Given the description of an element on the screen output the (x, y) to click on. 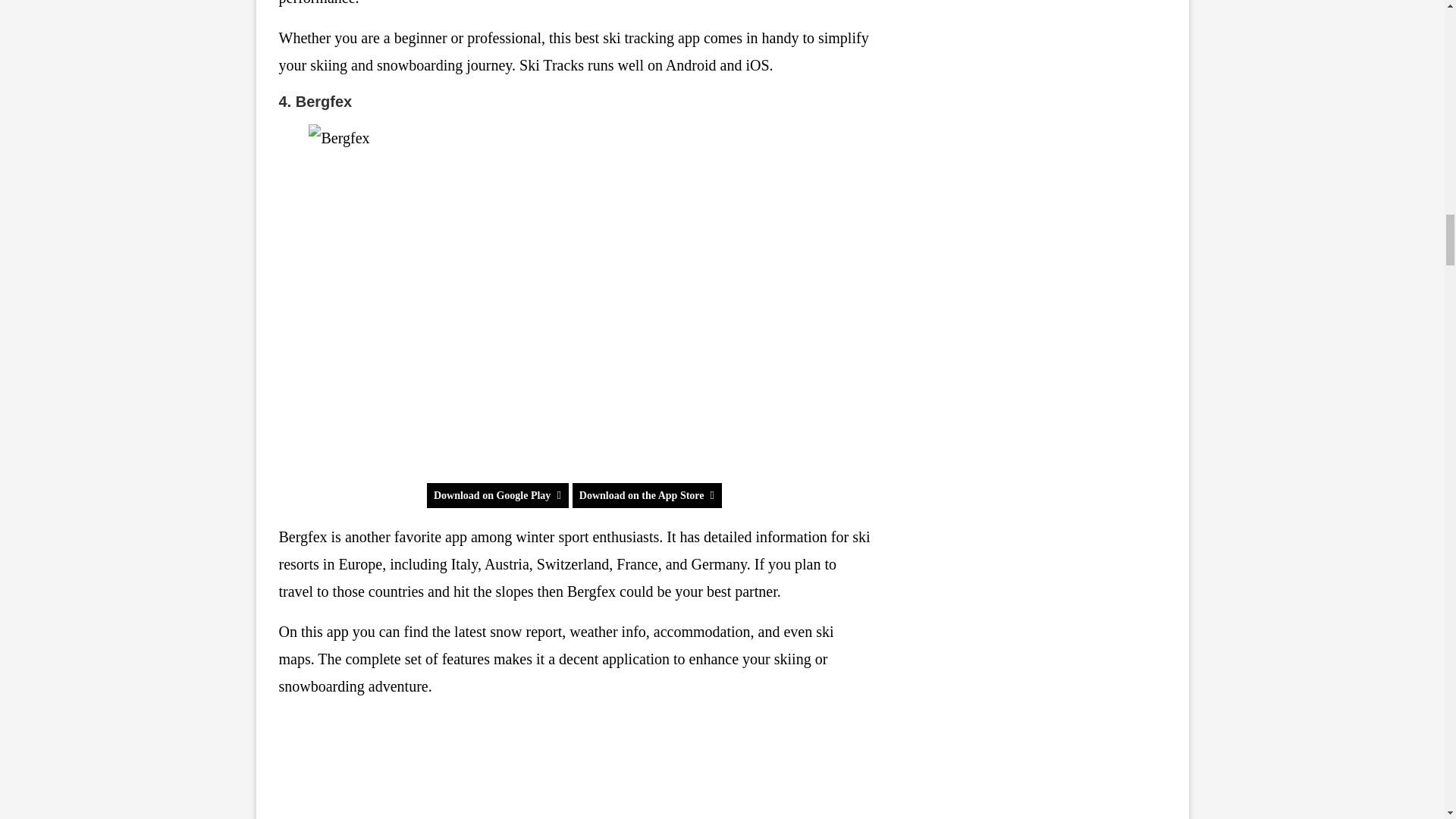
Download on the App Store (647, 495)
Download on Google Play (497, 495)
